Given the description of an element on the screen output the (x, y) to click on. 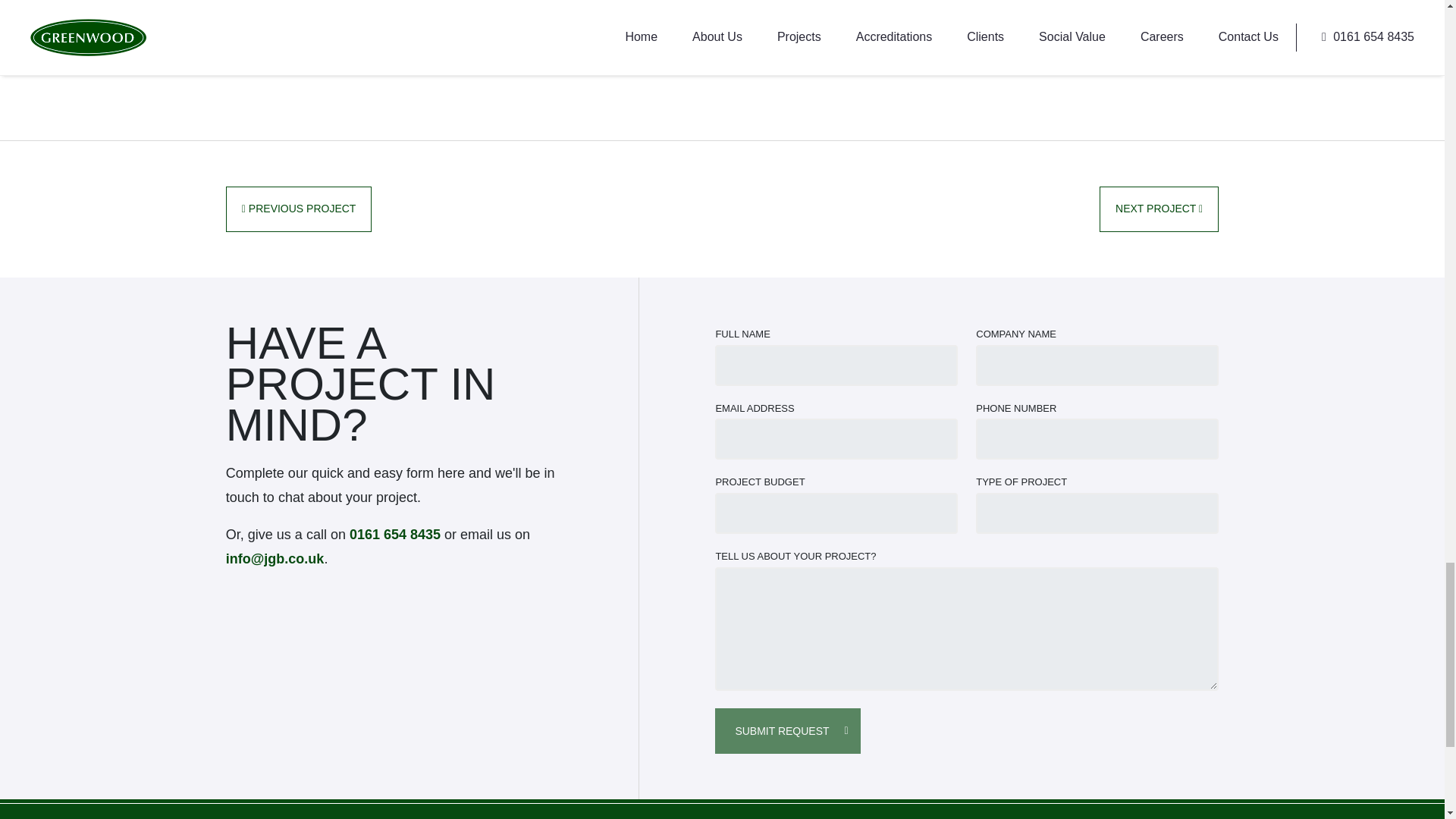
PREVIOUS PROJECT (298, 208)
NEXT PROJECT (1158, 208)
0161 654 8435 (395, 534)
SUBMIT REQUEST (787, 730)
